Given the description of an element on the screen output the (x, y) to click on. 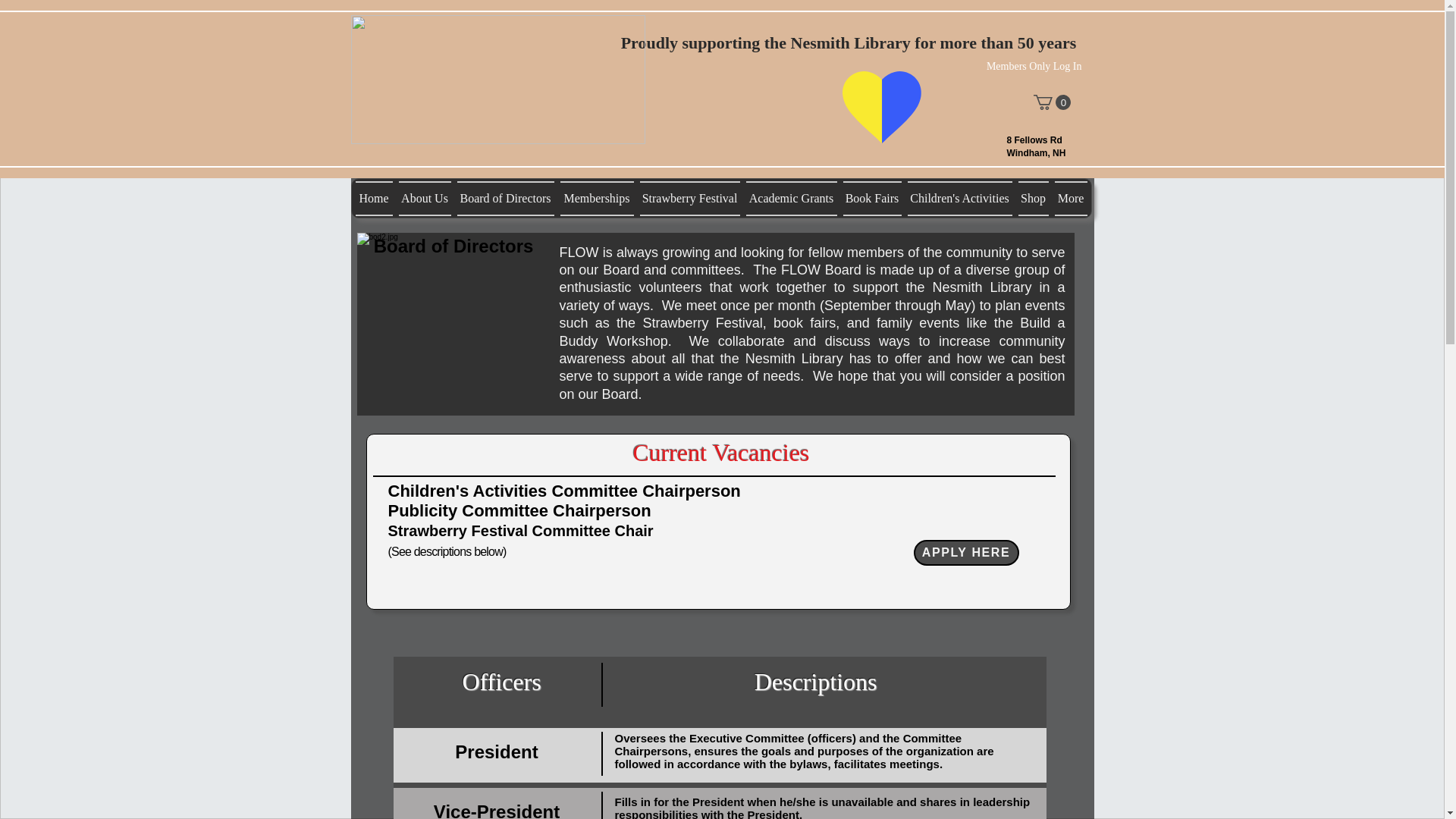
About Us (425, 198)
Academic Grants (791, 198)
Board of Directors (504, 198)
Book Fairs (872, 198)
APPLY HERE (964, 552)
Strawberry Festival (689, 198)
0 (1051, 102)
Memberships (596, 198)
Members Only Log In (1034, 66)
Home (374, 198)
Children's Activities (959, 198)
0 (1051, 102)
Shop (1032, 198)
